Given the description of an element on the screen output the (x, y) to click on. 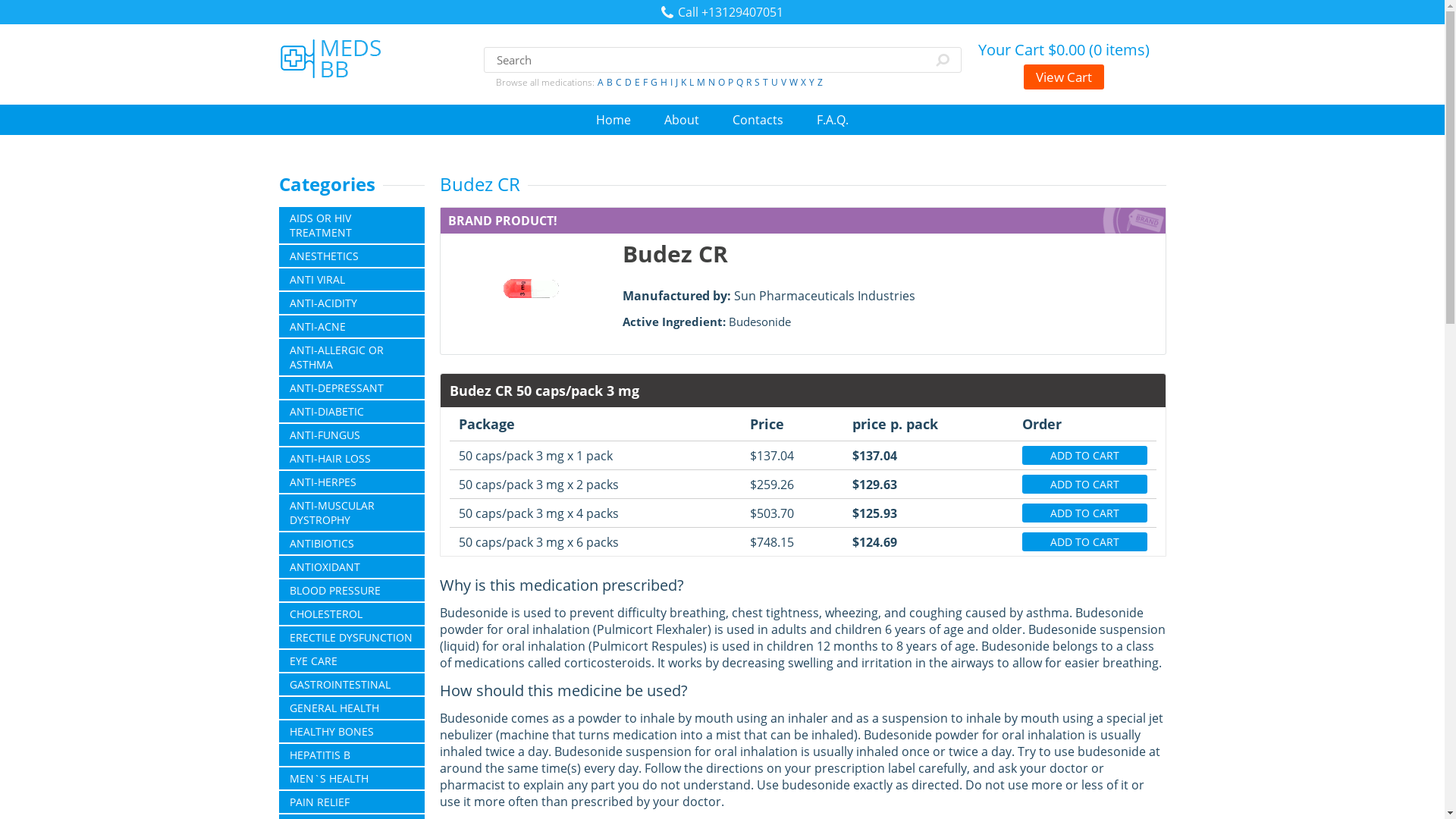
About (680, 119)
AIDS OR HIV TREATMENT (352, 225)
F.A.Q. (832, 119)
ANTI-ACIDITY (352, 302)
Contacts (757, 119)
ANTI VIRAL (352, 279)
Home (612, 119)
View Cart (1063, 76)
ANESTHETICS (352, 255)
